Given the description of an element on the screen output the (x, y) to click on. 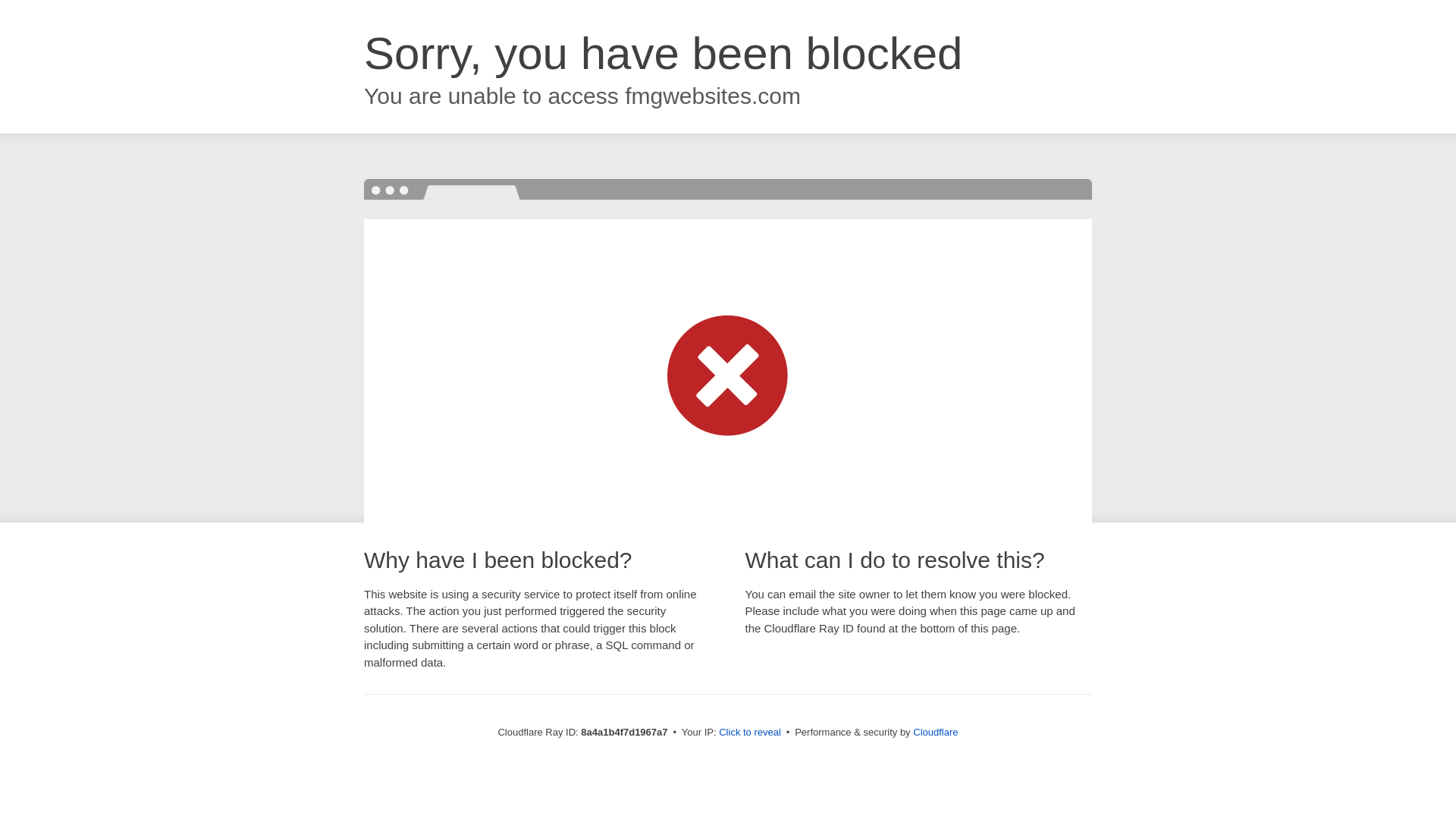
Cloudflare (935, 731)
Click to reveal (749, 732)
